Given the description of an element on the screen output the (x, y) to click on. 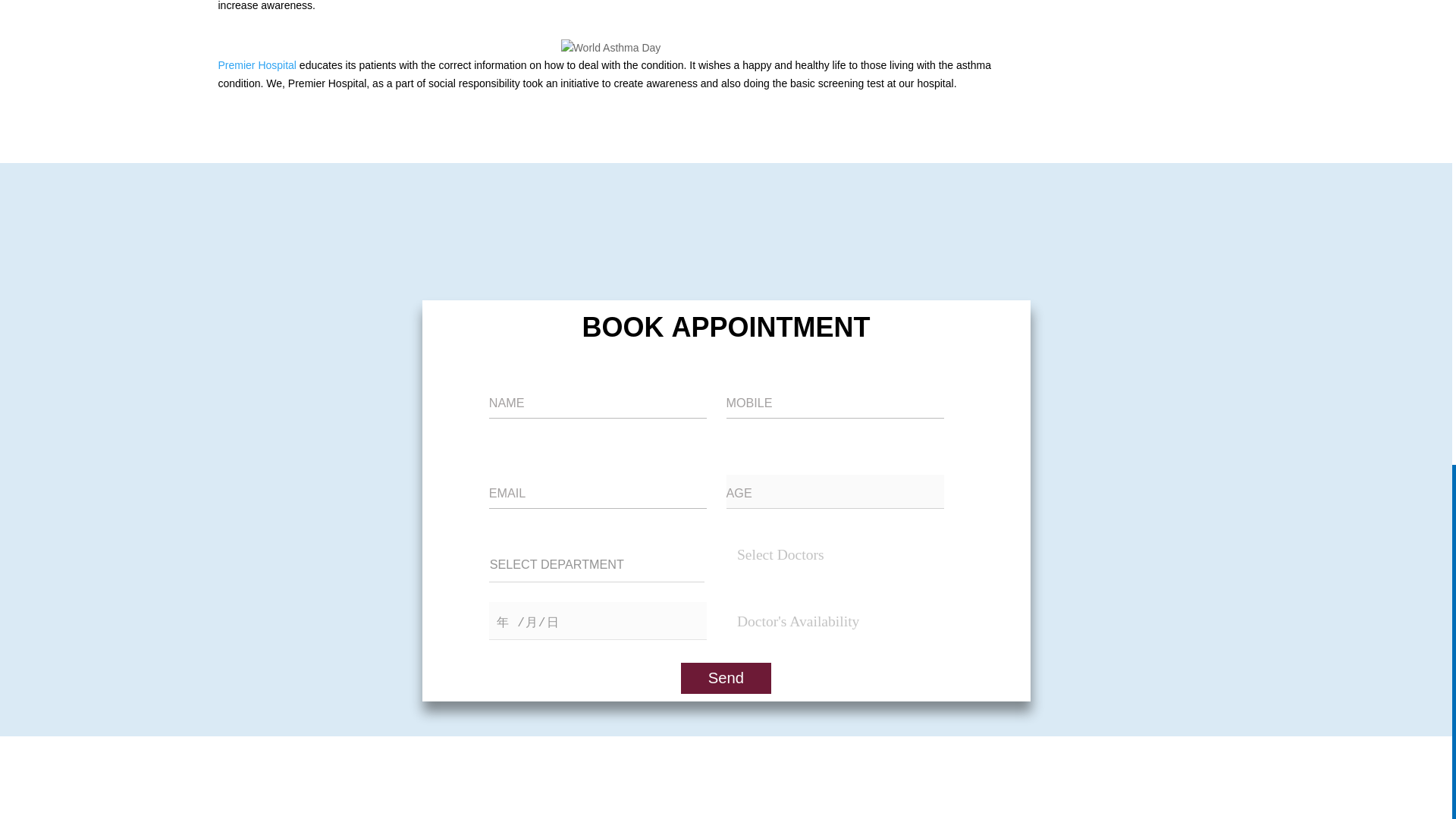
World Asthma Day (610, 48)
Send (726, 677)
